Given the description of an element on the screen output the (x, y) to click on. 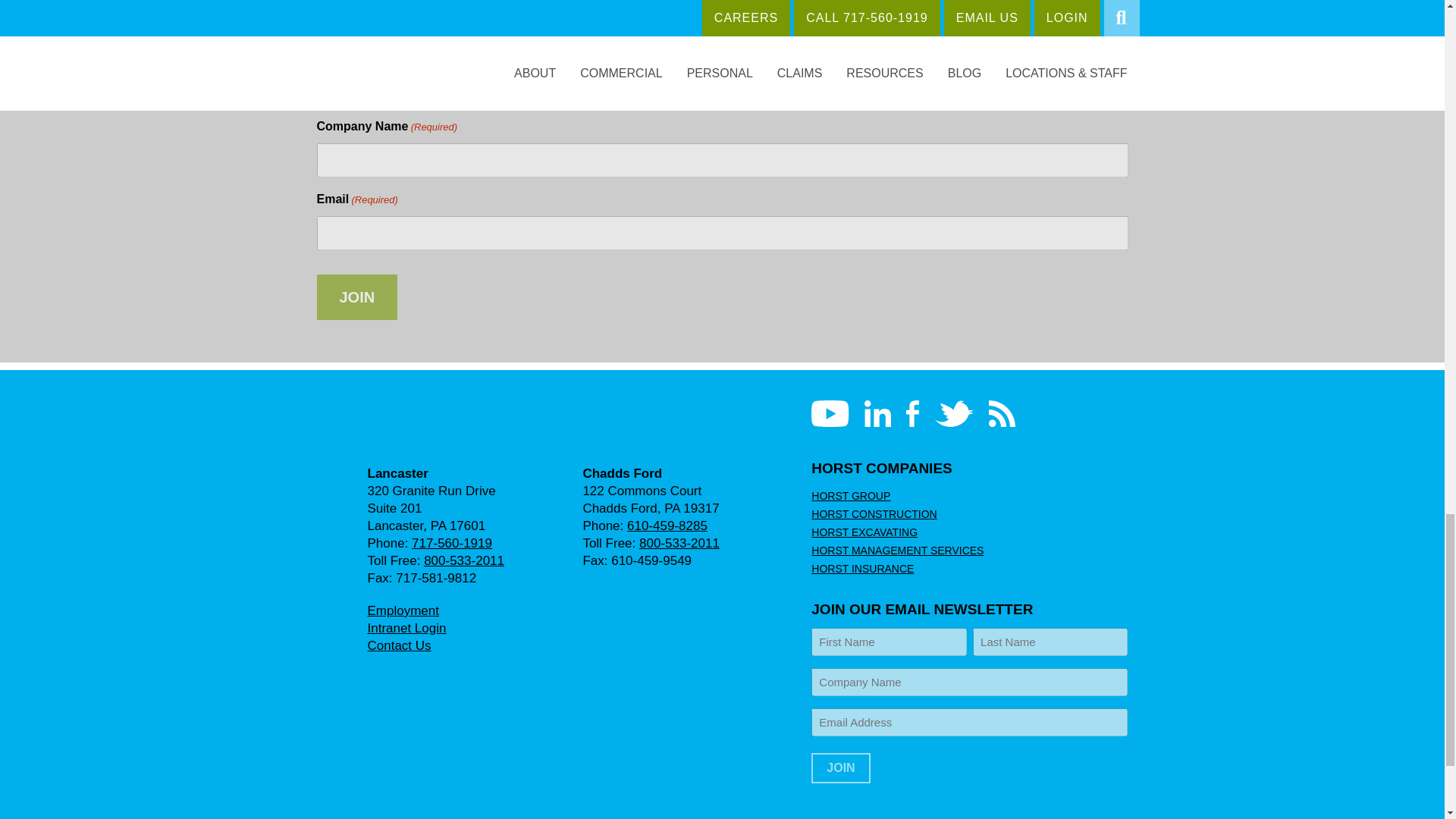
800-533-2011 (463, 560)
Employment (402, 610)
Read more at LinkedIn (877, 413)
Join (357, 297)
Read more at YouTube (829, 413)
Intranet Login (405, 627)
Read more at RSS Feed (1001, 413)
Horst Insurance (400, 425)
Join (839, 767)
800-533-2011 (679, 543)
Call 800-533-2011 (463, 560)
Call 800-533-2011 (679, 543)
717-560-1919 (452, 543)
Contact Us (398, 645)
Read more at twitter (954, 413)
